Given the description of an element on the screen output the (x, y) to click on. 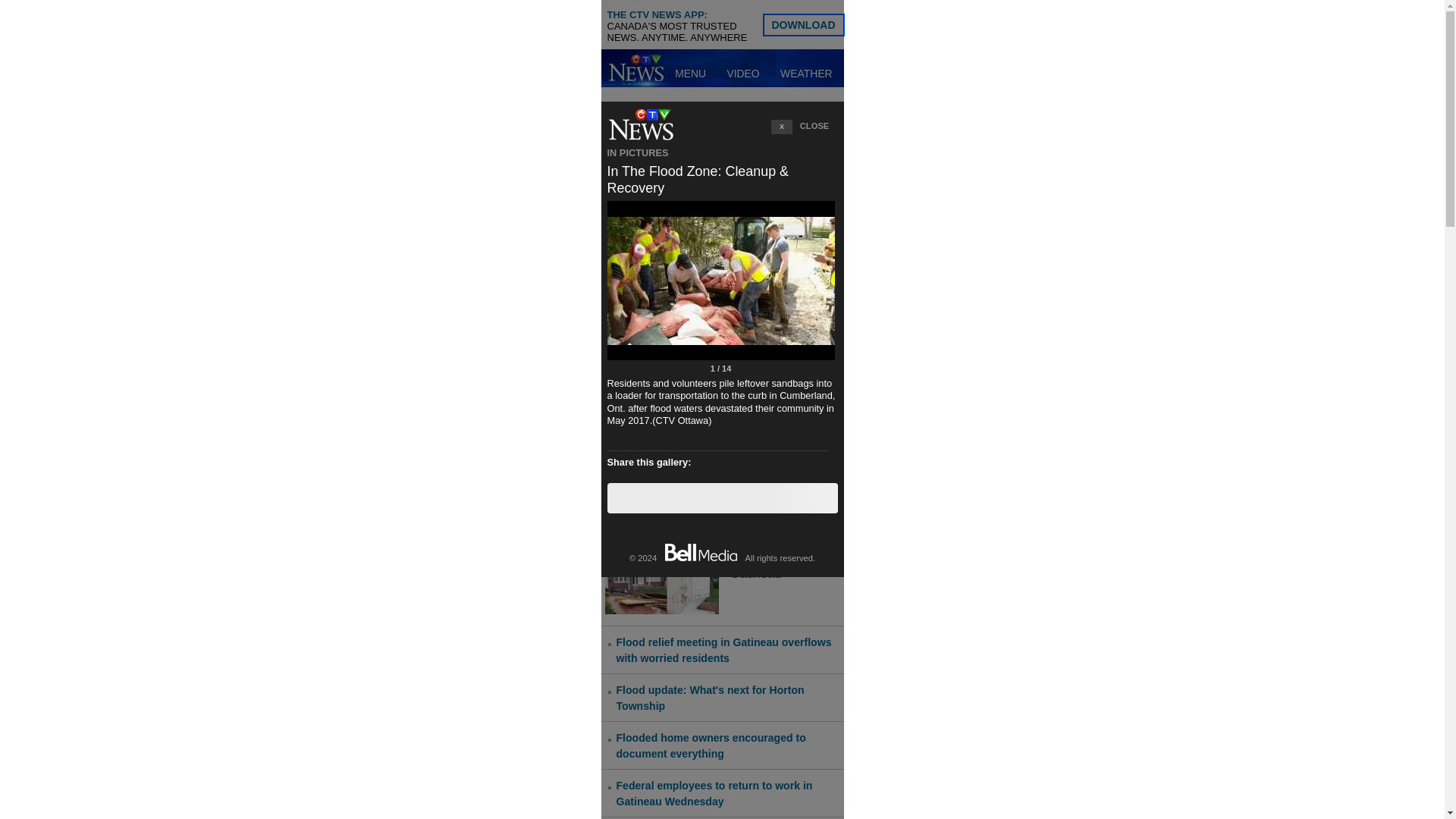
DOWNLOAD (803, 24)
THE CTV NEWS APP: (656, 14)
Weather (806, 73)
WEATHER (806, 73)
